Given the description of an element on the screen output the (x, y) to click on. 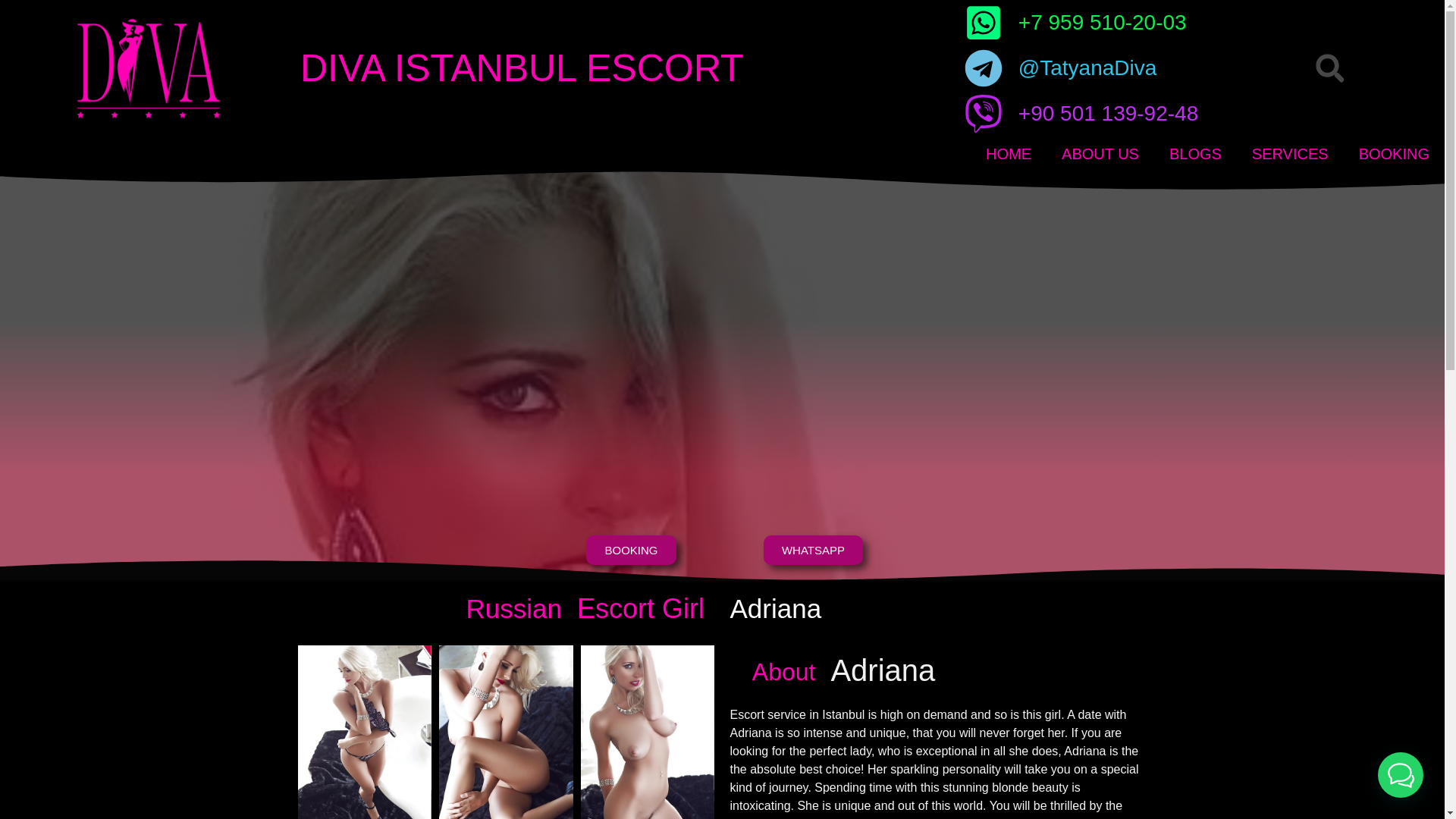
SERVICES (1289, 153)
BOOKING (630, 550)
HOME (1008, 153)
ABOUT US (1100, 153)
BLOGS (1195, 153)
DIVA ISTANBUL ESCORT (520, 67)
WHATSAPP (812, 550)
